Given the description of an element on the screen output the (x, y) to click on. 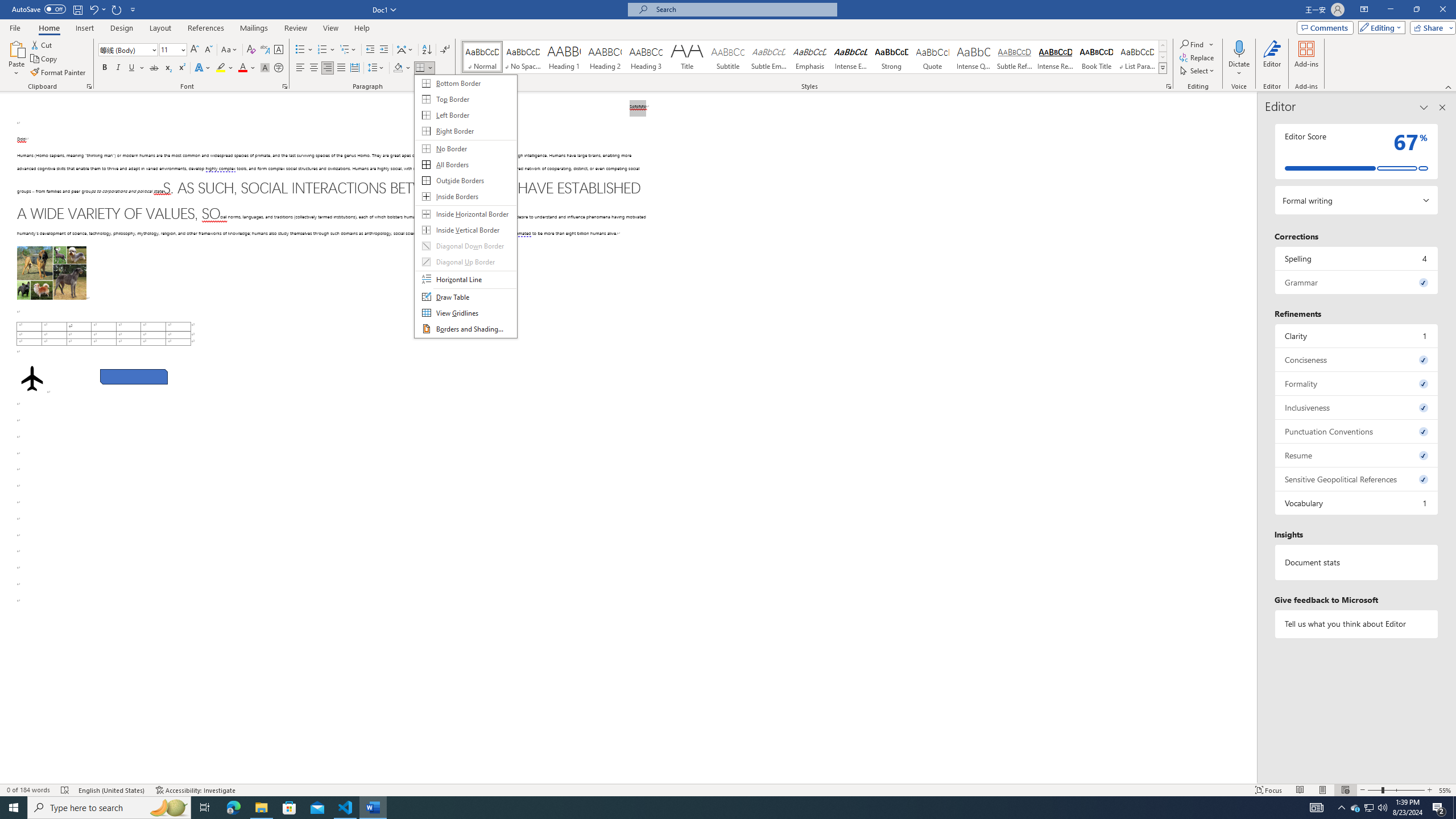
Grow Font (193, 49)
Align Right (327, 67)
File Explorer - 1 running window (261, 807)
Save (77, 9)
Visual Studio Code - 1 running window (345, 807)
Shrink Font (208, 49)
Row up (1162, 45)
Font Size (169, 49)
Tell us what you think about Editor (1356, 624)
Notification Chevron (1341, 807)
Font (124, 49)
Microsoft search (742, 9)
Review (295, 28)
Phonetic Guide... (264, 49)
Zoom (1396, 790)
